Given the description of an element on the screen output the (x, y) to click on. 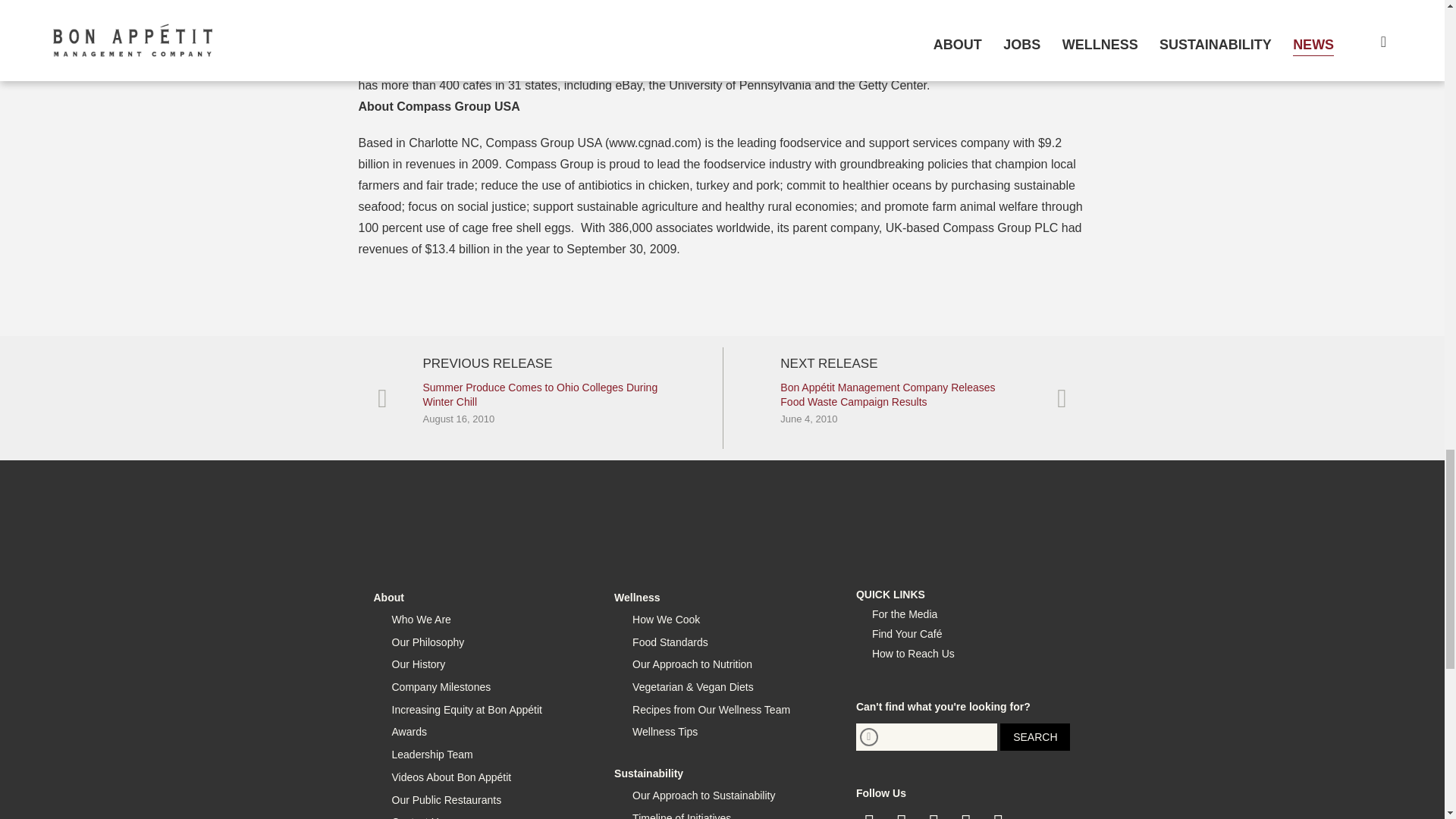
Search (1035, 737)
Follow us on Facebook (869, 814)
Follow us on LinkedIn (965, 814)
Follow us on Instagram (933, 814)
Follow us on Twitter (901, 814)
